Given the description of an element on the screen output the (x, y) to click on. 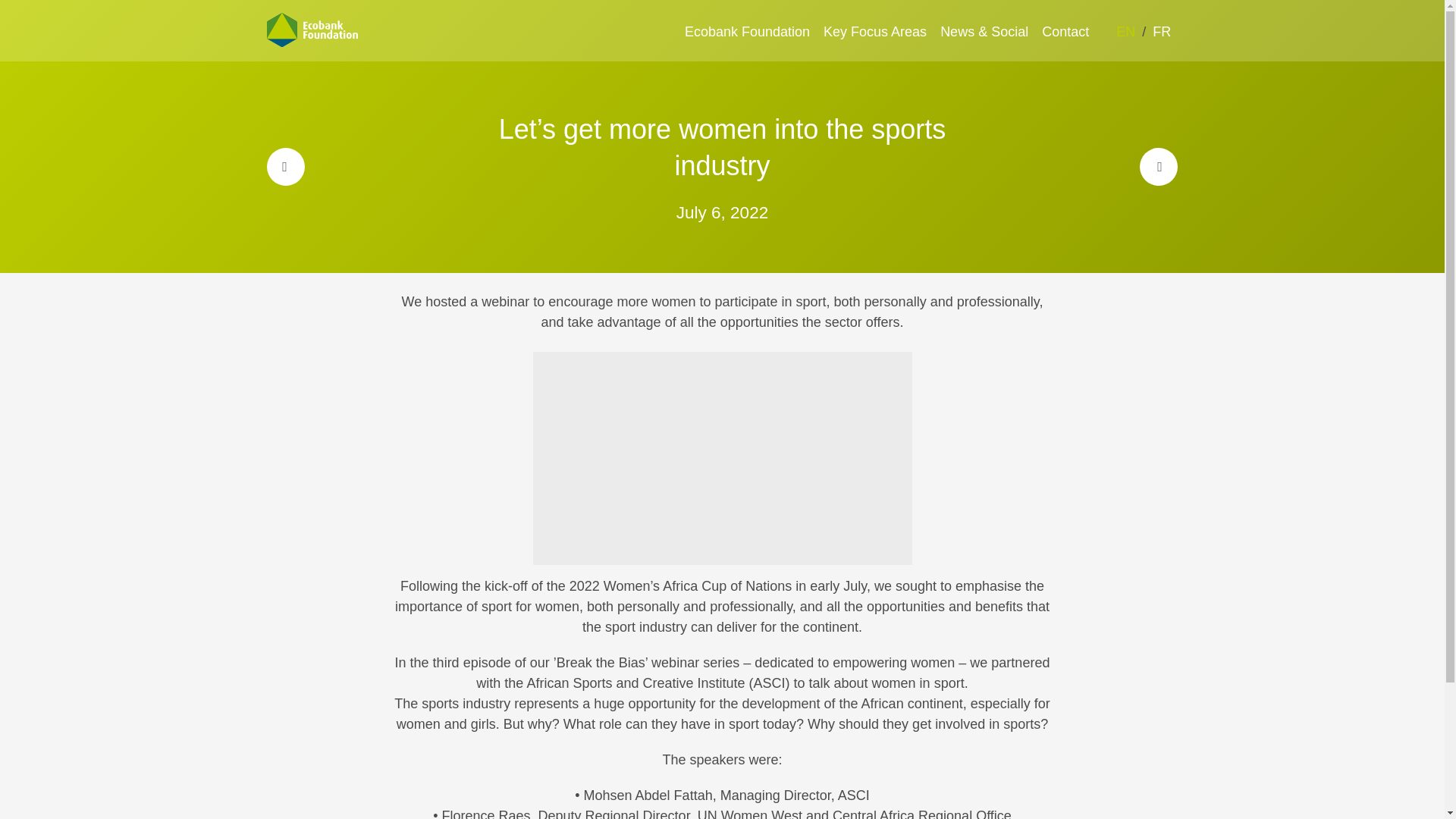
Ecobank Foundation (747, 31)
Contact (1065, 31)
Key Focus Areas (874, 31)
